Given the description of an element on the screen output the (x, y) to click on. 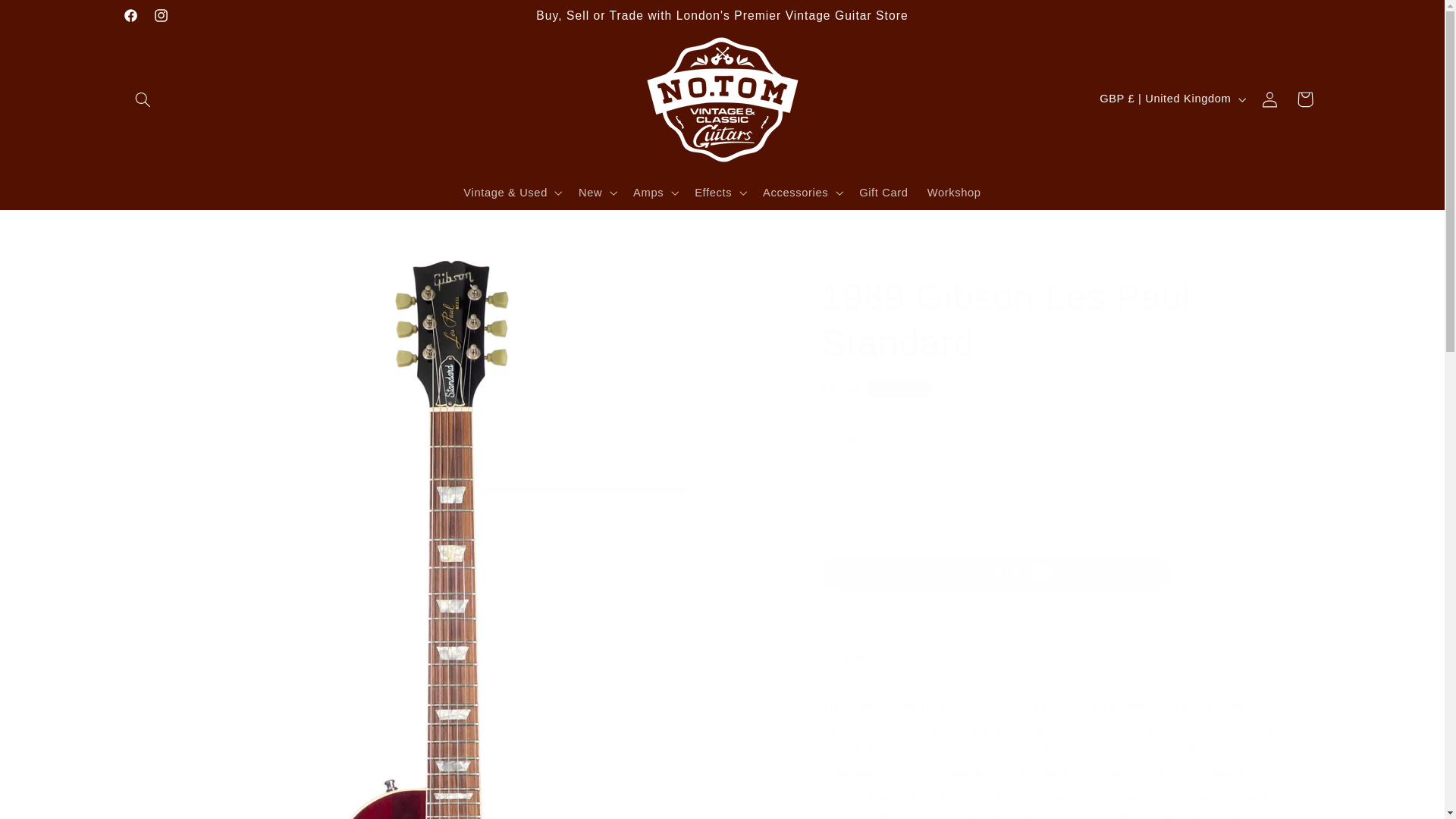
Instagram (160, 15)
Skip to content (48, 18)
1 (876, 470)
Facebook (130, 15)
